Given the description of an element on the screen output the (x, y) to click on. 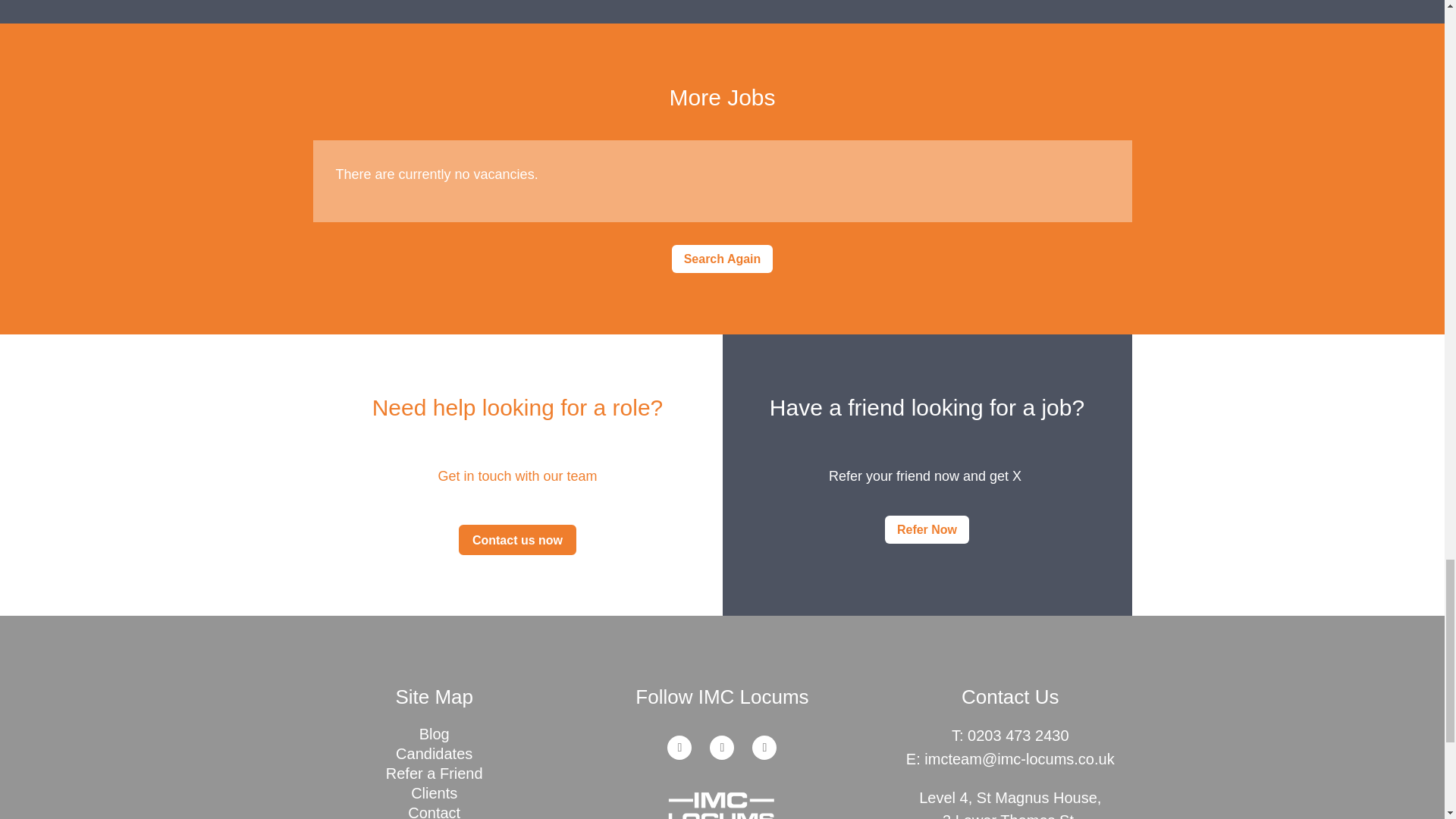
Follow on X (721, 747)
Follow on Facebook (764, 747)
Follow on LinkedIn (678, 747)
imc-locums-grey (721, 804)
